Given the description of an element on the screen output the (x, y) to click on. 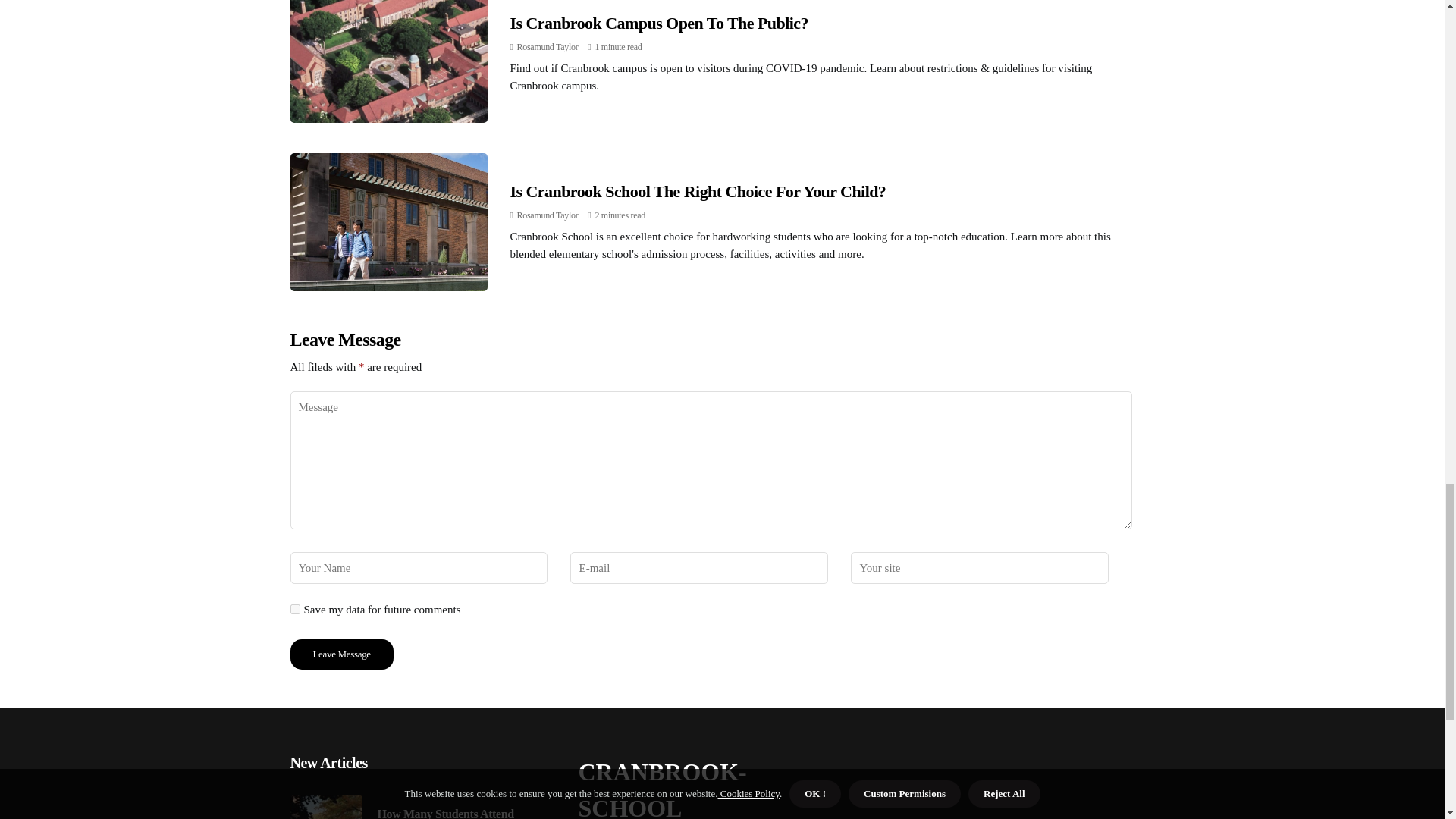
Rosamund Taylor (547, 46)
Leave Message (341, 654)
Posts by Rosamund Taylor (547, 46)
yes (294, 609)
Rosamund Taylor (547, 214)
Leave Message (341, 654)
Is Cranbrook School The Right Choice For Your Child? (697, 190)
Posts by Rosamund Taylor (547, 214)
Is Cranbrook Campus Open To The Public? (658, 22)
